Given the description of an element on the screen output the (x, y) to click on. 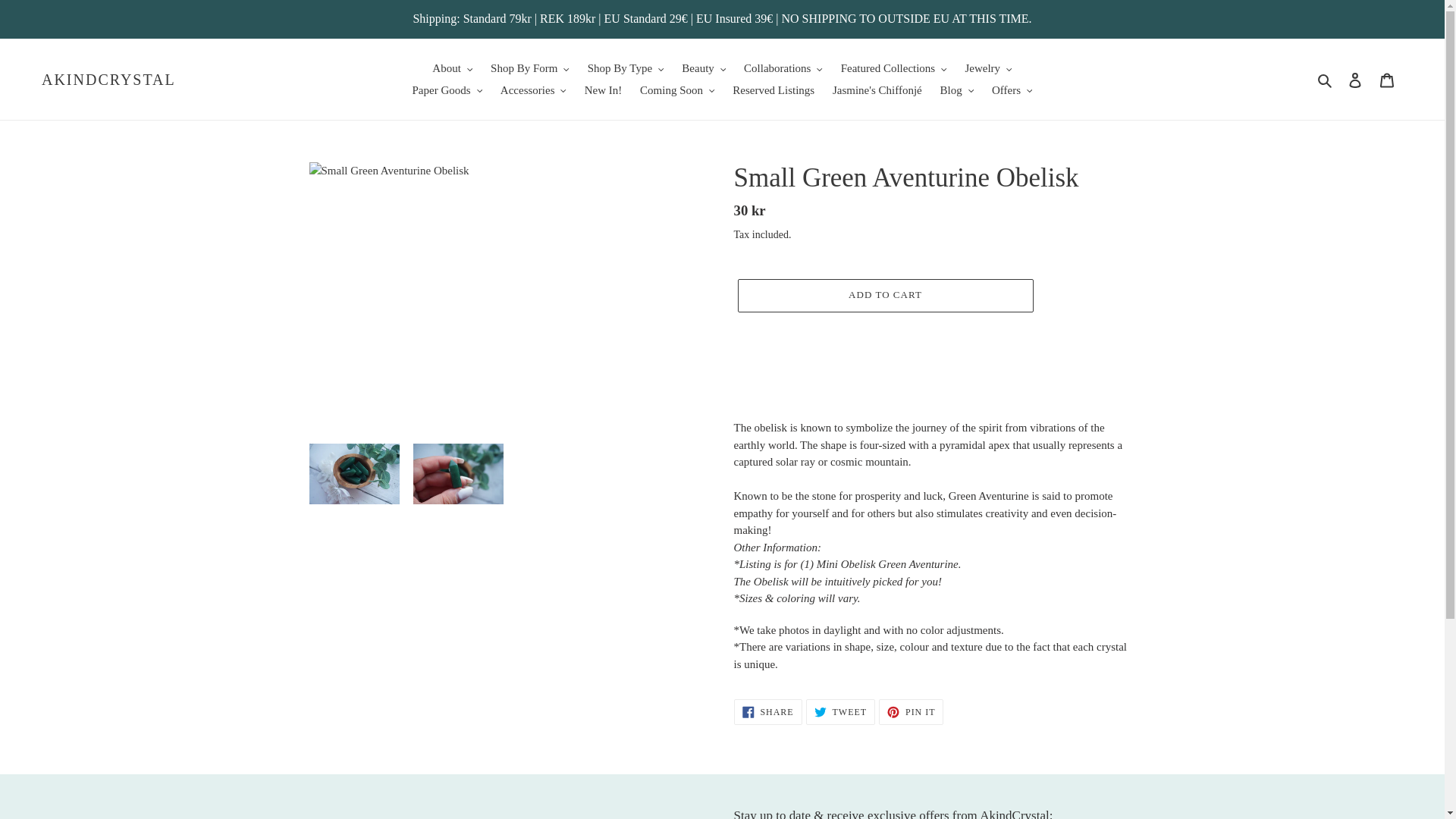
AKINDCRYSTAL (109, 78)
Shop By Form (529, 68)
About (452, 68)
